Given the description of an element on the screen output the (x, y) to click on. 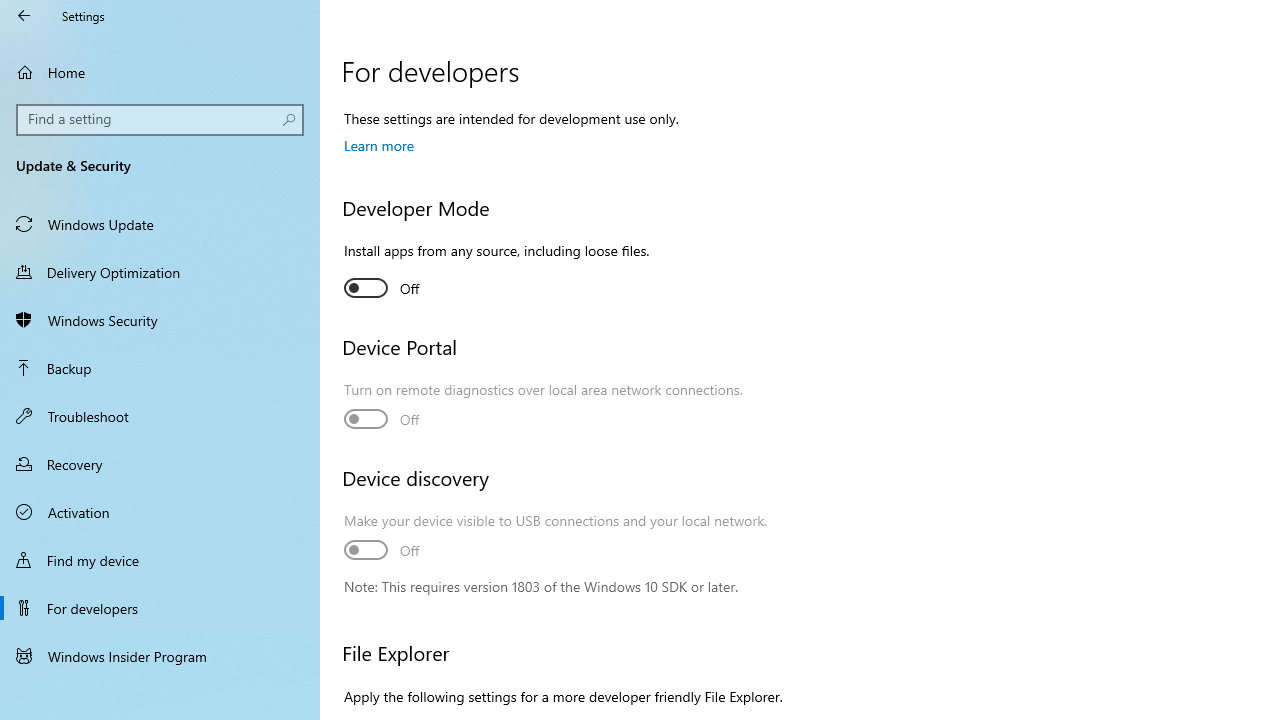
For developers (160, 607)
SystemSettings_Developer_Mode_Advanced_NarratorText (381, 287)
